Given the description of an element on the screen output the (x, y) to click on. 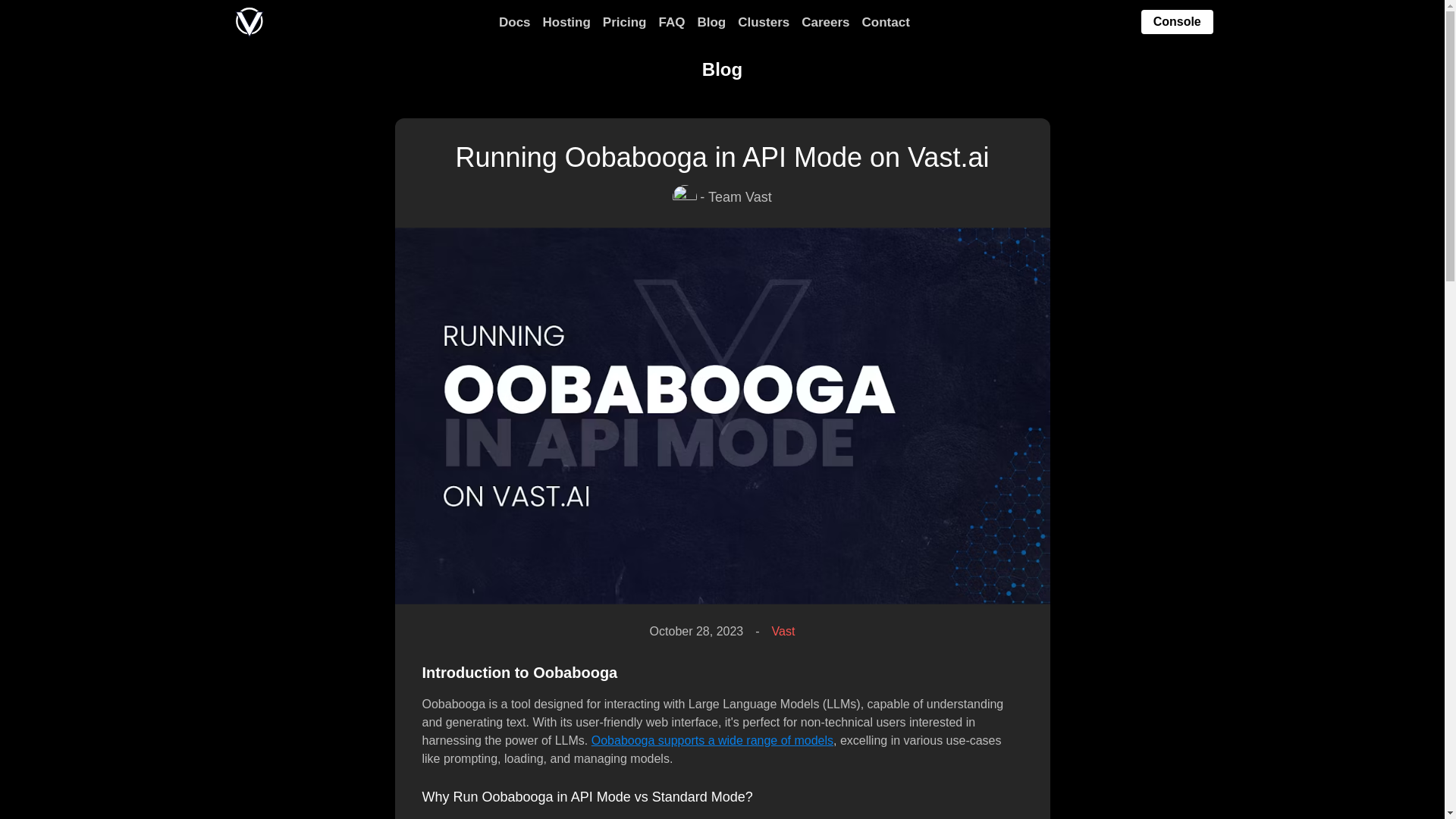
Careers (825, 22)
Clusters (763, 22)
Console (1176, 21)
Docs (515, 22)
FAQ (671, 22)
Hosting (567, 22)
Contact (885, 22)
Pricing (624, 22)
Blog (711, 22)
Console (1176, 22)
